Given the description of an element on the screen output the (x, y) to click on. 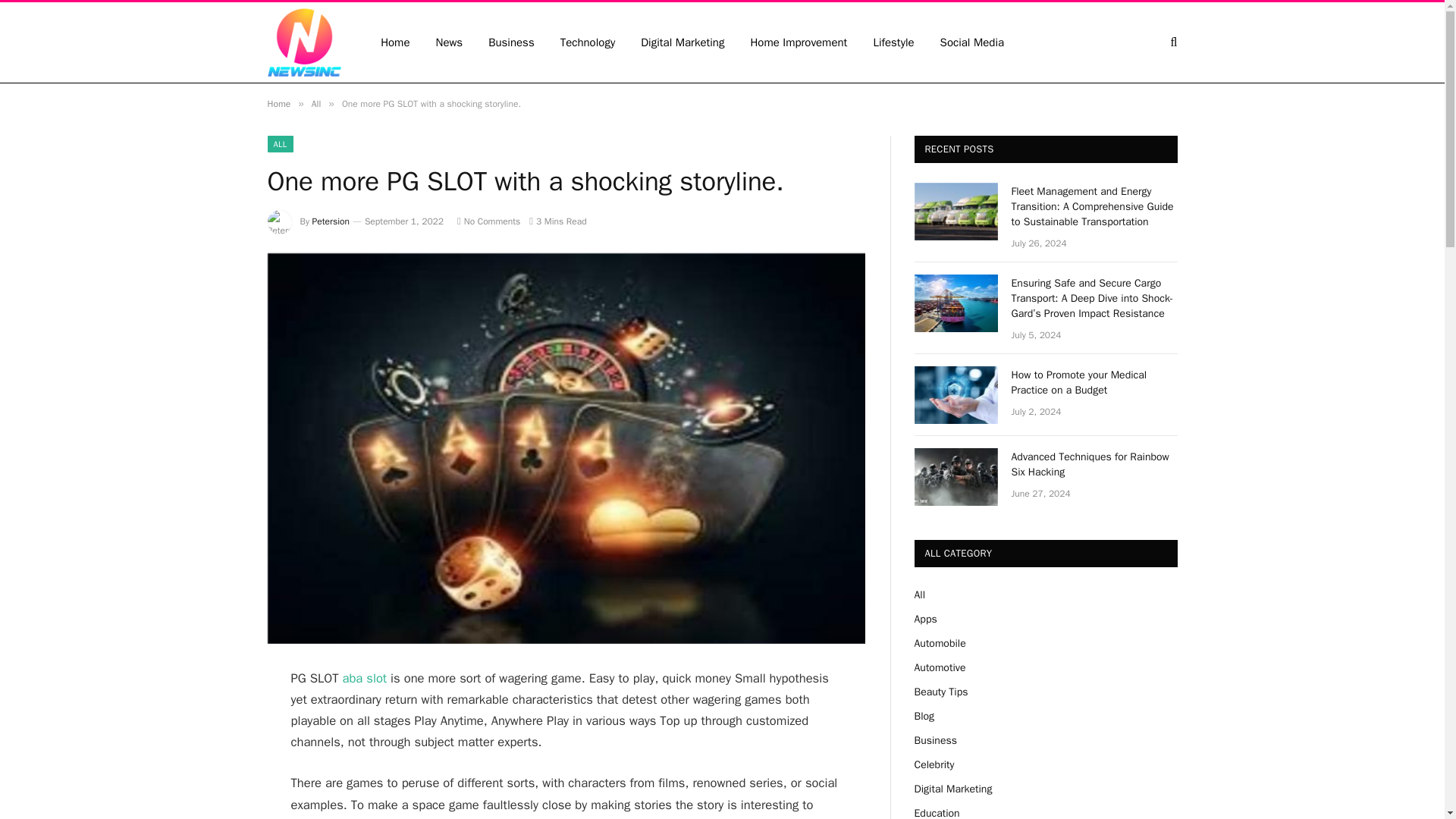
ALL (279, 143)
How to Promote your Medical Practice on a Budget (1094, 382)
Home Improvement (798, 42)
Posts by Petersion (331, 221)
Technology (587, 42)
Home (277, 103)
No Comments (488, 221)
Digital Marketing (681, 42)
News Incs (303, 42)
Social Media (971, 42)
aba slot (364, 678)
Petersion (331, 221)
